Given the description of an element on the screen output the (x, y) to click on. 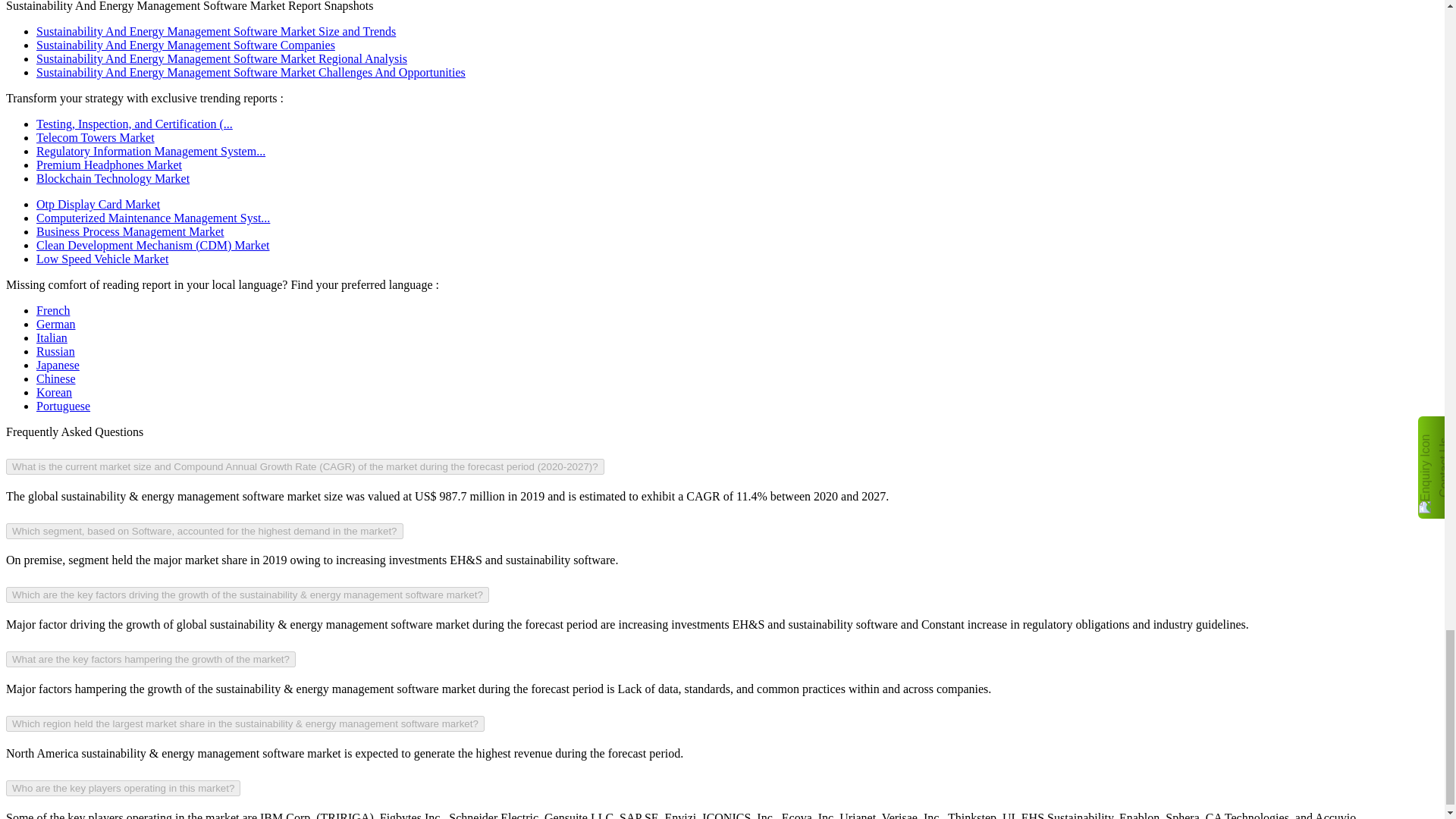
 Computerized Maintenance Management System Market (152, 217)
 Telecom Towers Market (95, 137)
 Otp Display Card Market (98, 204)
 Premium Headphones Market (109, 164)
 Blockchain Technology Market (112, 178)
